Given the description of an element on the screen output the (x, y) to click on. 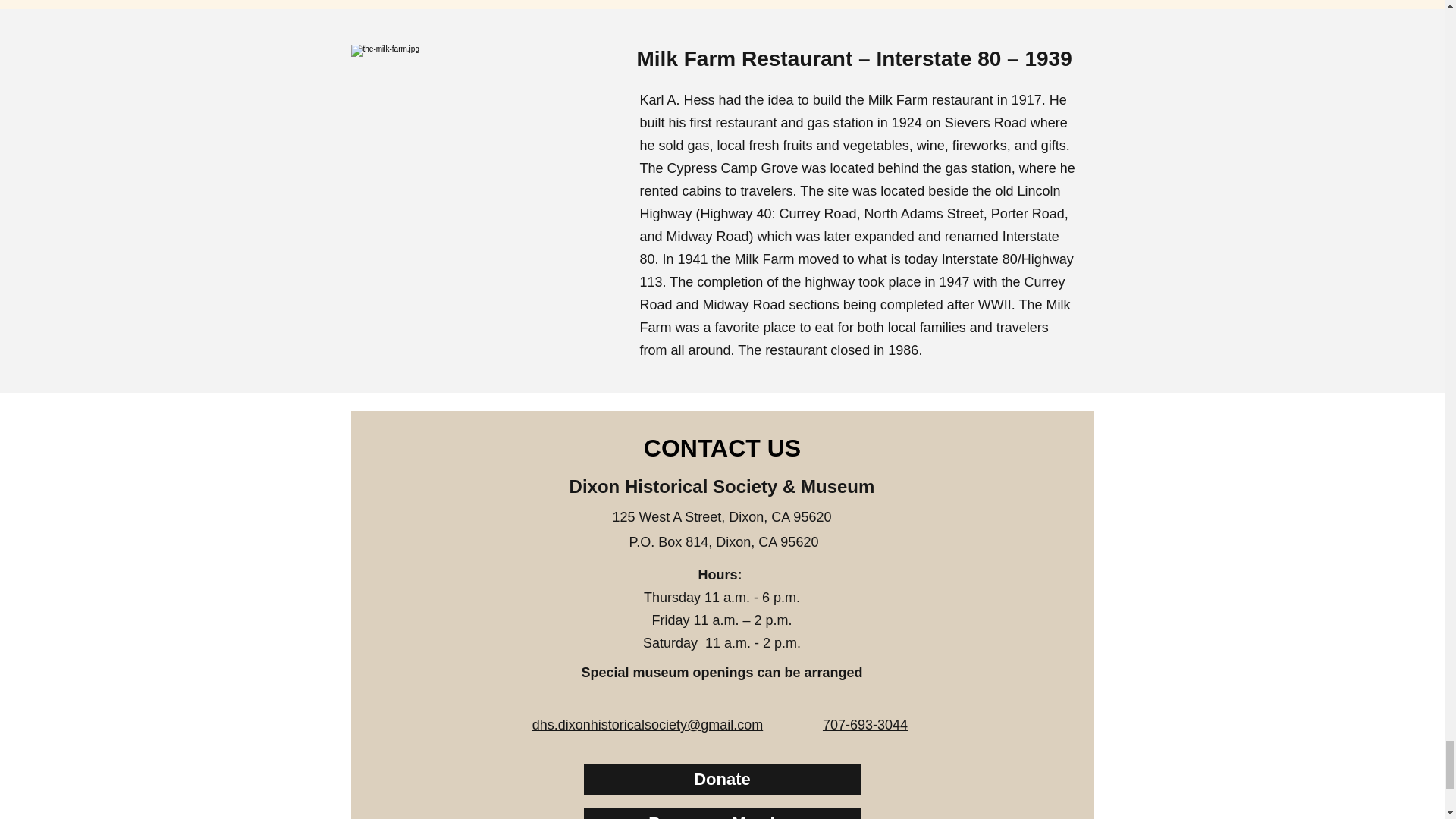
Donate (722, 779)
707-693-3044 (864, 724)
Become a Member (722, 813)
